Given the description of an element on the screen output the (x, y) to click on. 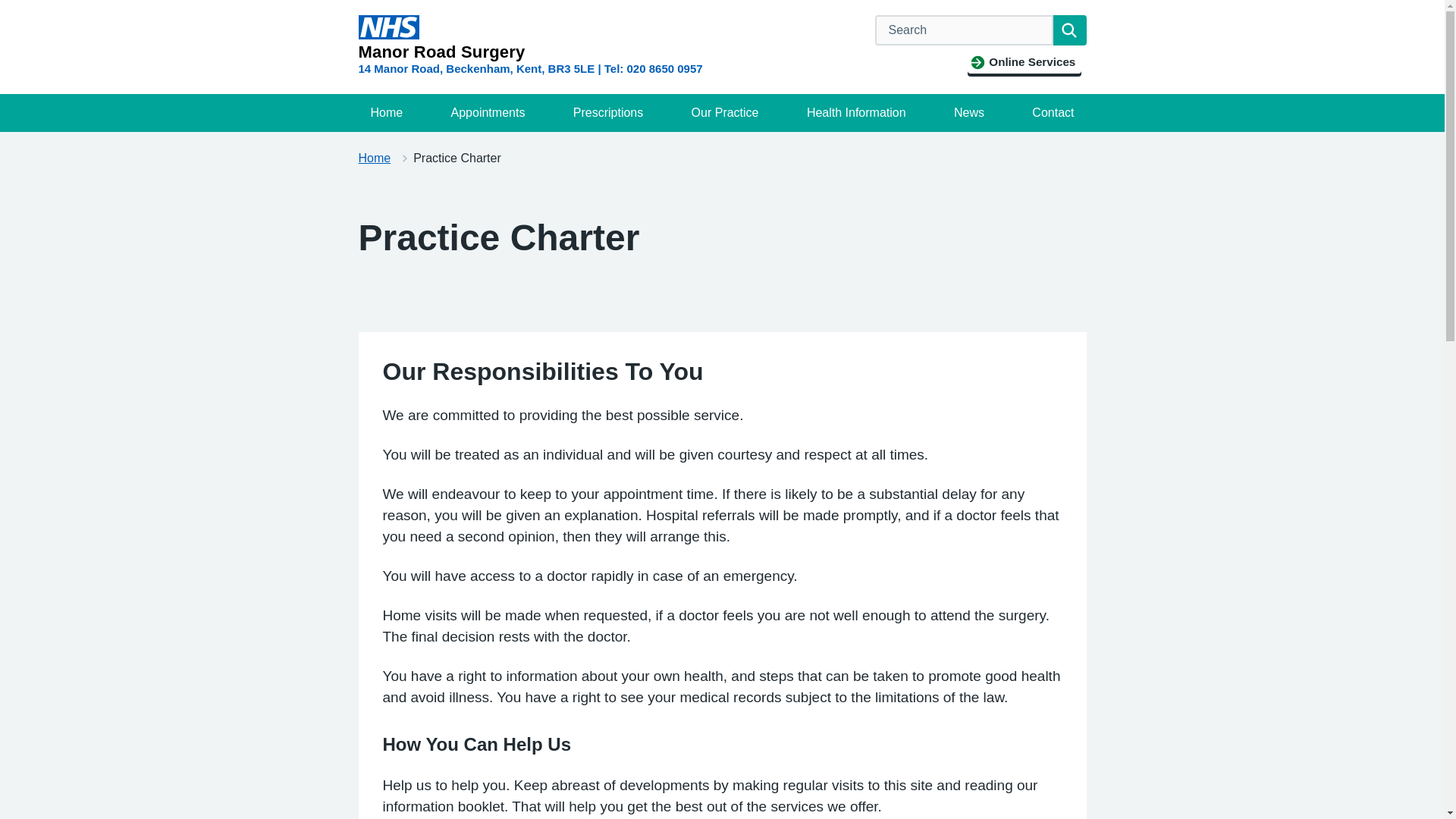
Search (1069, 30)
Appointments (488, 112)
Home (374, 157)
Home (386, 112)
Online Services  (1024, 61)
NHS Logo (388, 27)
Health Information (856, 112)
Contact (1053, 112)
Our Practice (725, 112)
News (968, 112)
